Given the description of an element on the screen output the (x, y) to click on. 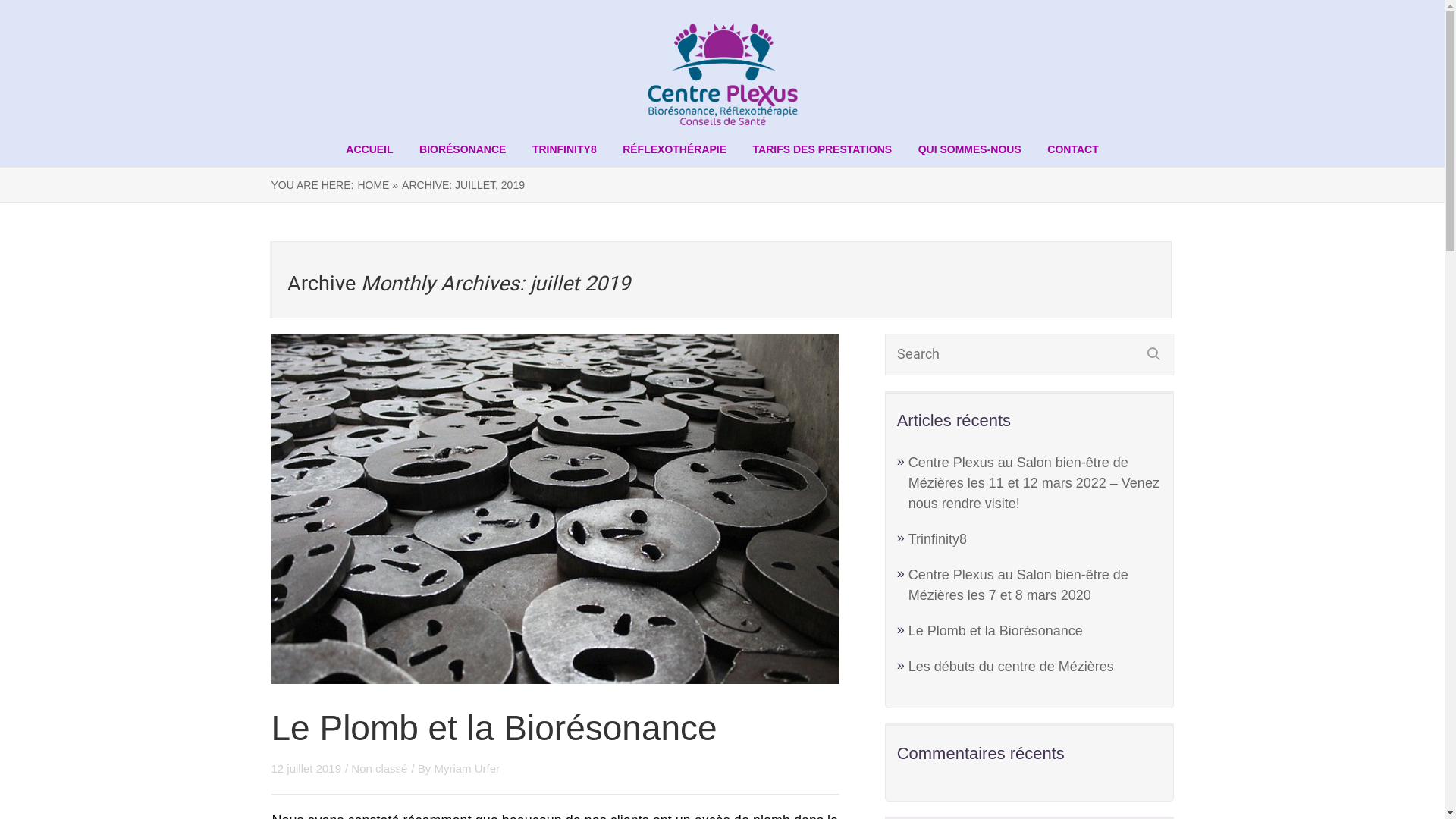
QUI SOMMES-NOUS Element type: text (969, 149)
Myriam Urfer Element type: text (466, 768)
Trinfinity8 Element type: text (937, 538)
TRINFINITY8 Element type: text (564, 149)
TARIFS DES PRESTATIONS Element type: text (822, 149)
CONTACT Element type: text (1072, 149)
plomb Element type: hover (555, 508)
ACCUEIL Element type: text (368, 149)
